Given the description of an element on the screen output the (x, y) to click on. 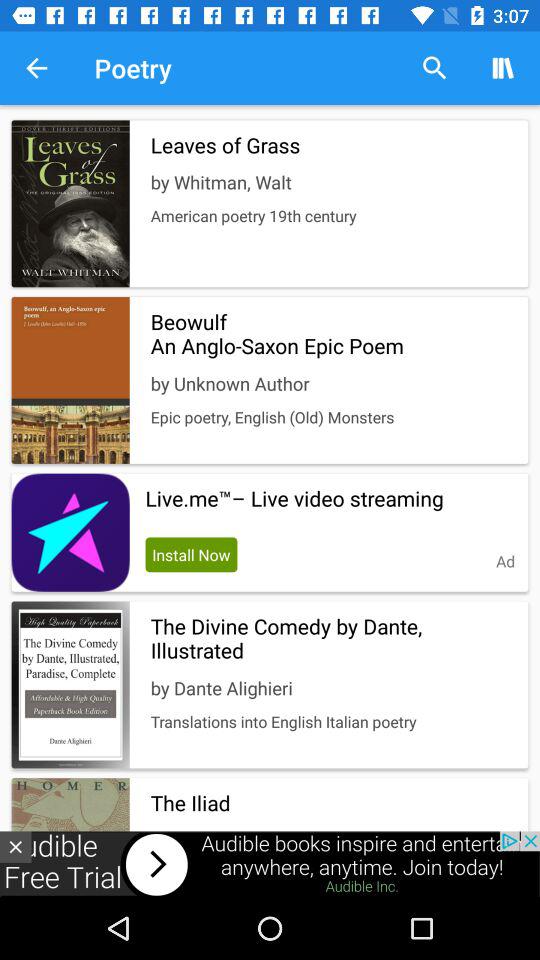
click on the advertisement (270, 864)
